Given the description of an element on the screen output the (x, y) to click on. 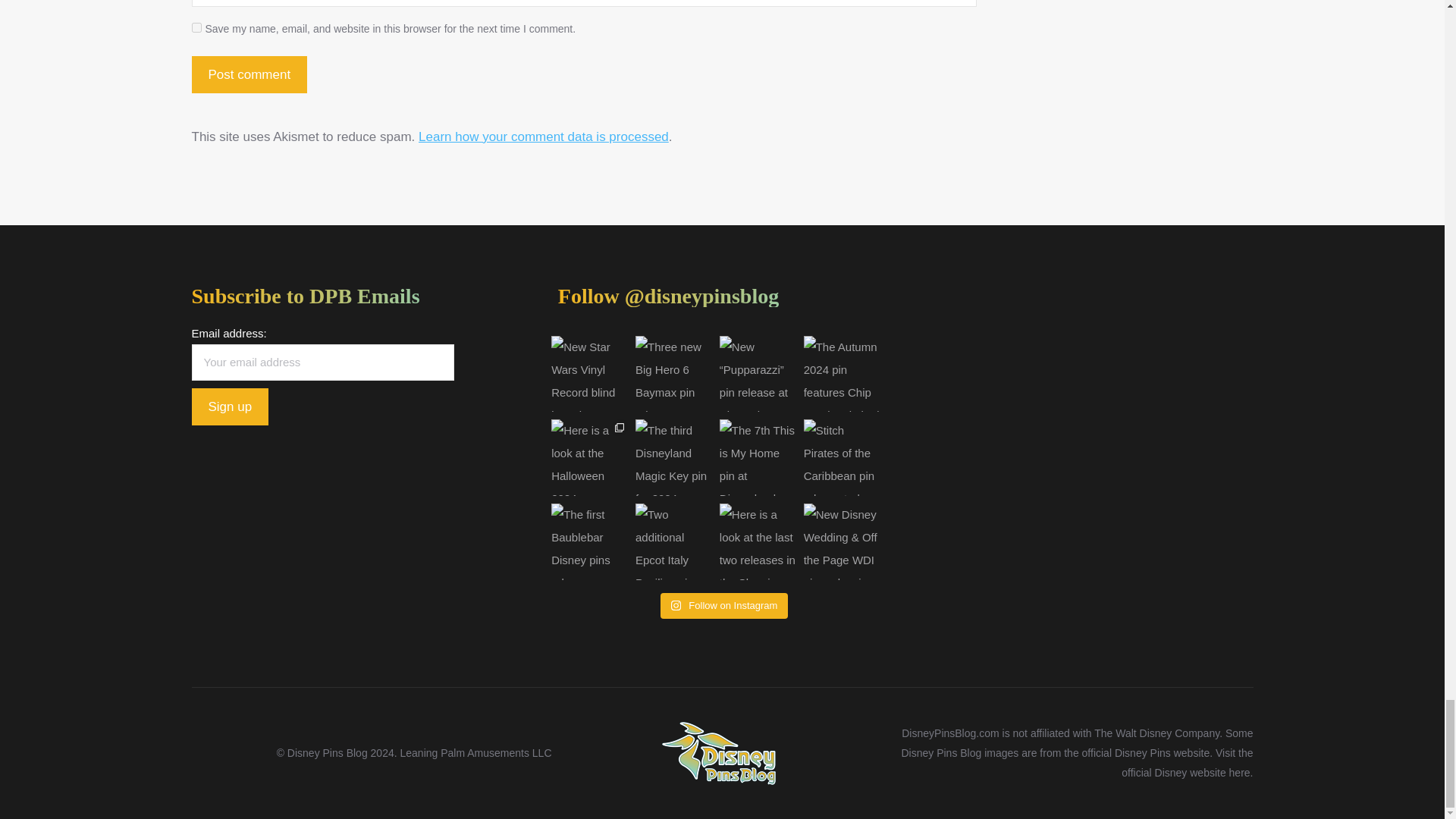
yes (195, 27)
Sign up (228, 406)
